Given the description of an element on the screen output the (x, y) to click on. 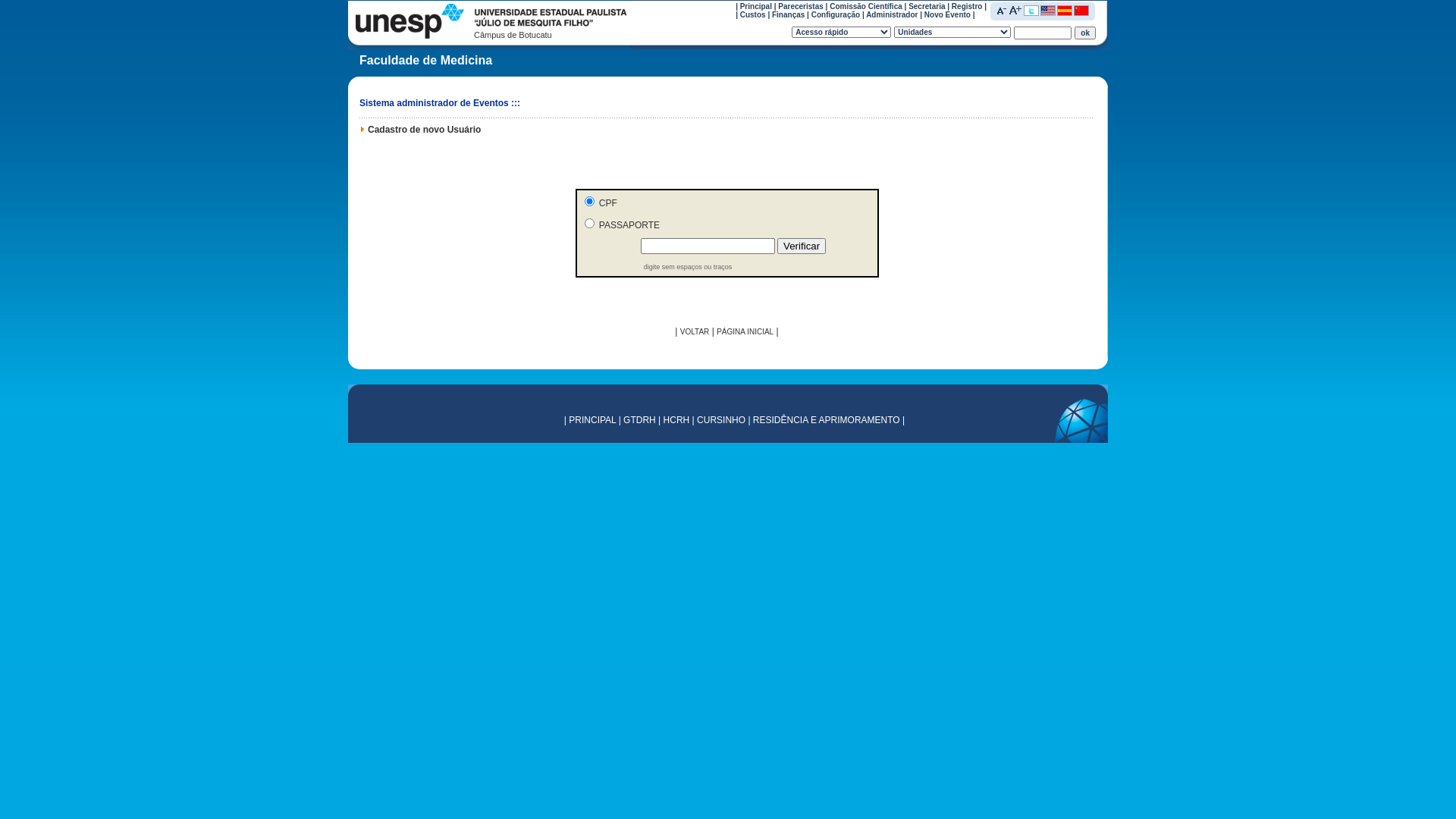
CURSINHO Element type: text (720, 419)
Novo Evento Element type: text (947, 14)
Custos Element type: text (752, 14)
ok Element type: text (1084, 31)
Verificar Element type: text (801, 246)
Pareceristas Element type: text (800, 5)
VOLTAR Element type: text (694, 331)
aumentar fonte Element type: hover (1015, 9)
Secretaria Element type: text (926, 5)
Registro Element type: text (966, 5)
Principal Element type: text (755, 5)
PRINCIPAL Element type: text (591, 419)
diminuir fonte Element type: hover (1001, 9)
Administrador Element type: text (891, 14)
HCRH Element type: text (676, 419)
GTDRH Element type: text (639, 419)
